Given the description of an element on the screen output the (x, y) to click on. 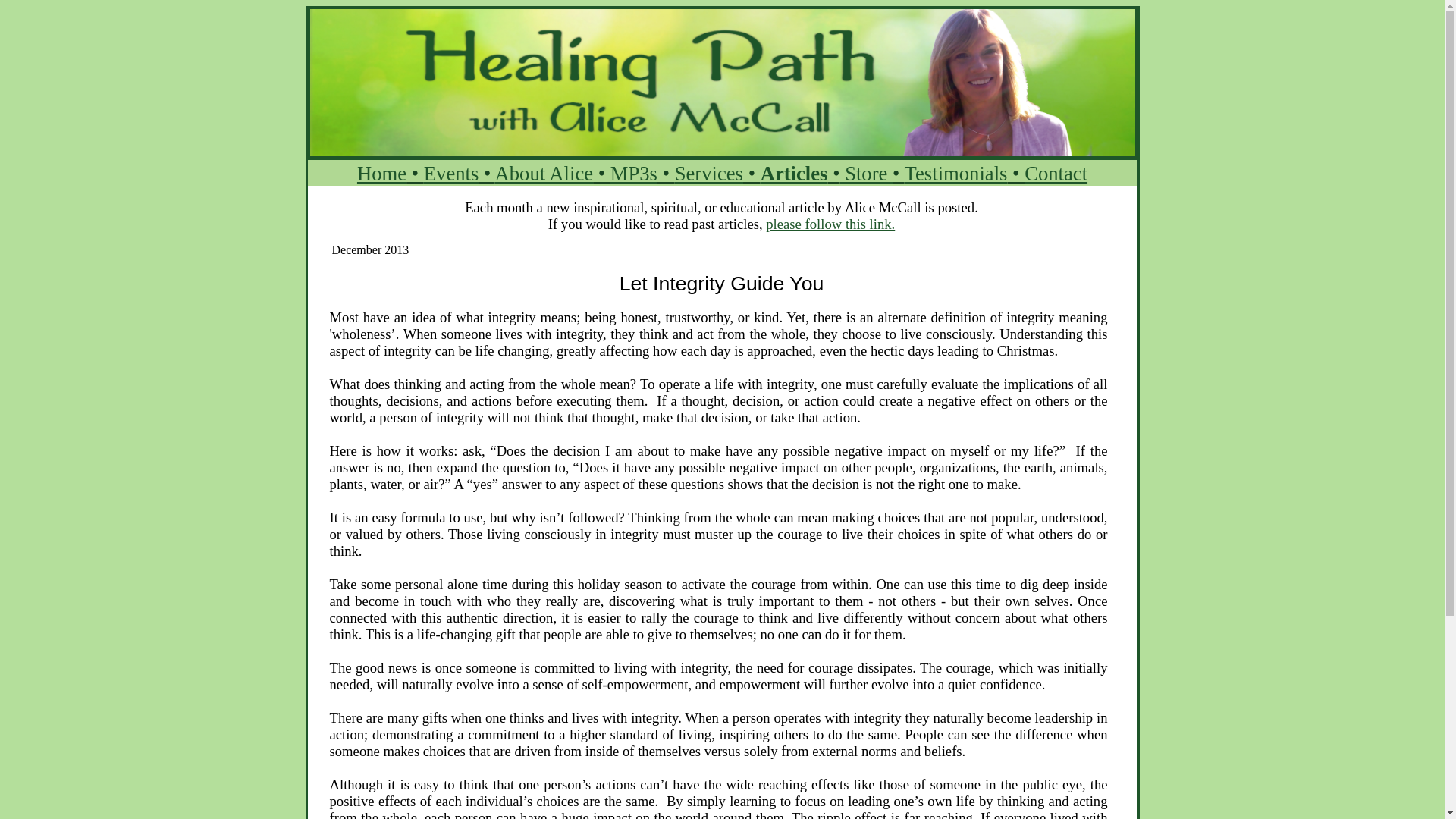
Home (381, 173)
Return to the home page. (381, 173)
Client testimonials. (955, 173)
Store (866, 173)
Testimonials (955, 173)
Services (708, 173)
Learn more about Alice McCall and her practice. (544, 173)
Contact (1056, 173)
MP3s (634, 173)
Events (451, 173)
